Given the description of an element on the screen output the (x, y) to click on. 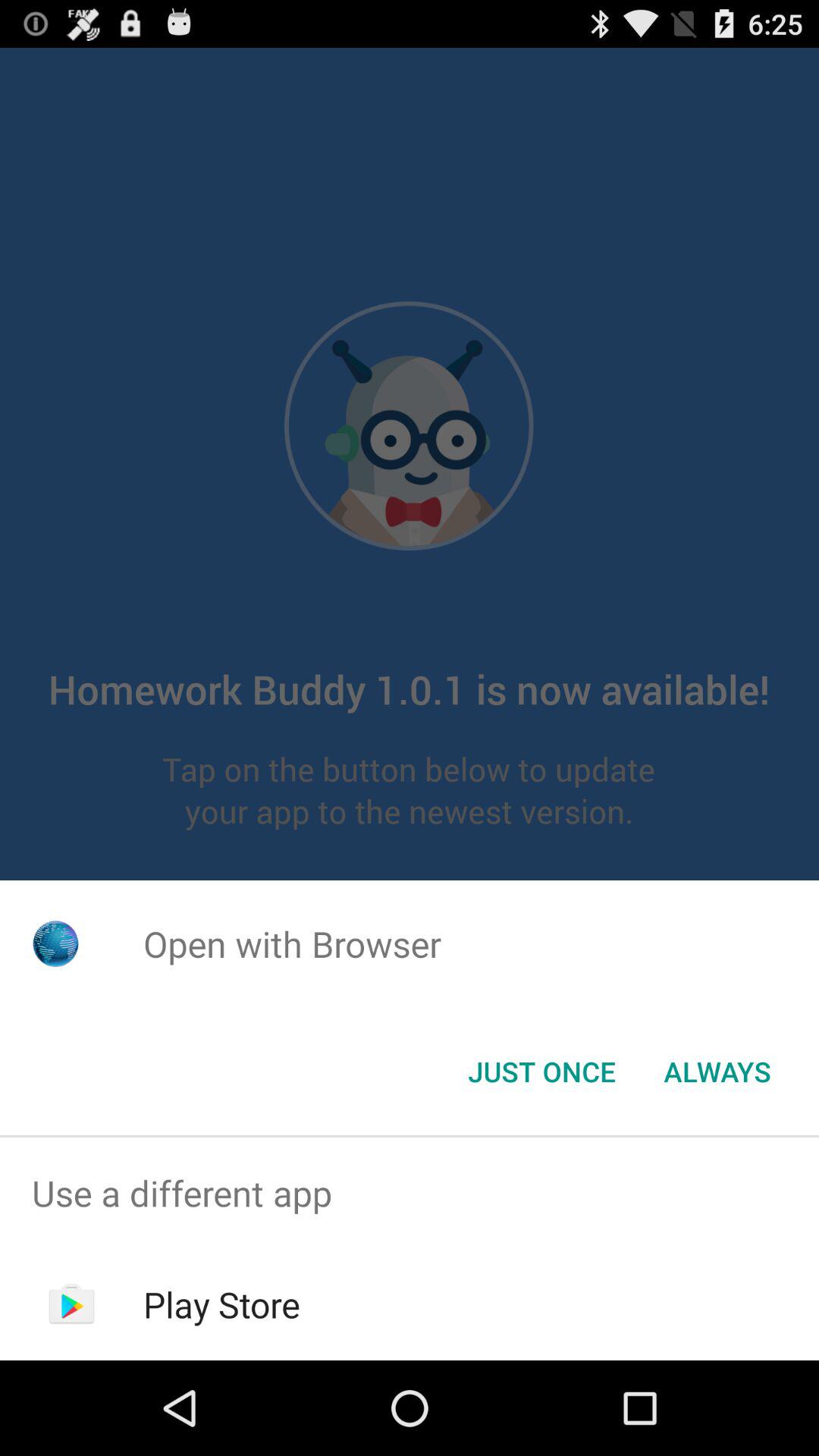
launch the item to the right of the just once (717, 1071)
